Given the description of an element on the screen output the (x, y) to click on. 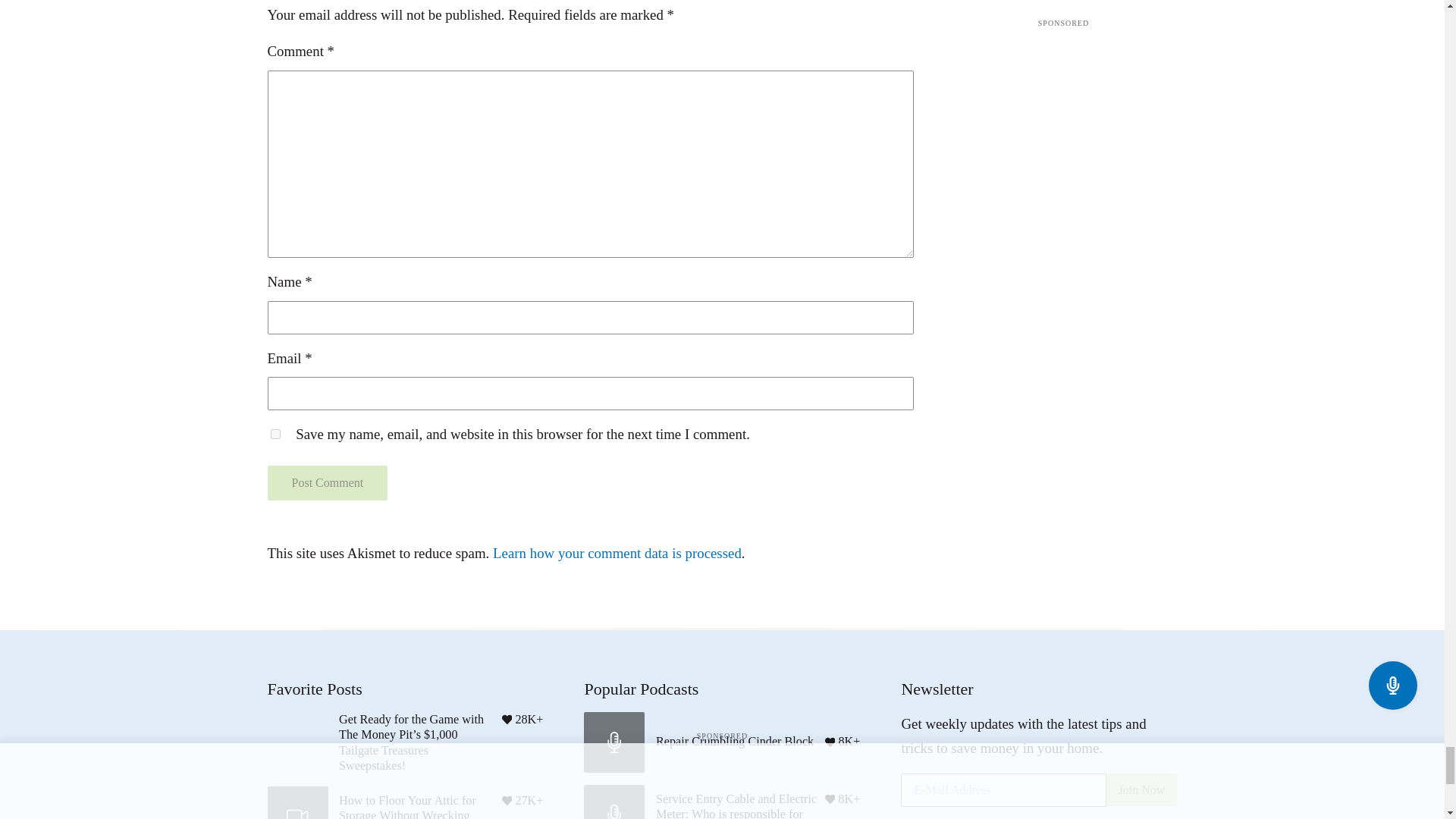
yes (274, 433)
Post Comment (326, 483)
Join Now (1141, 789)
